Given the description of an element on the screen output the (x, y) to click on. 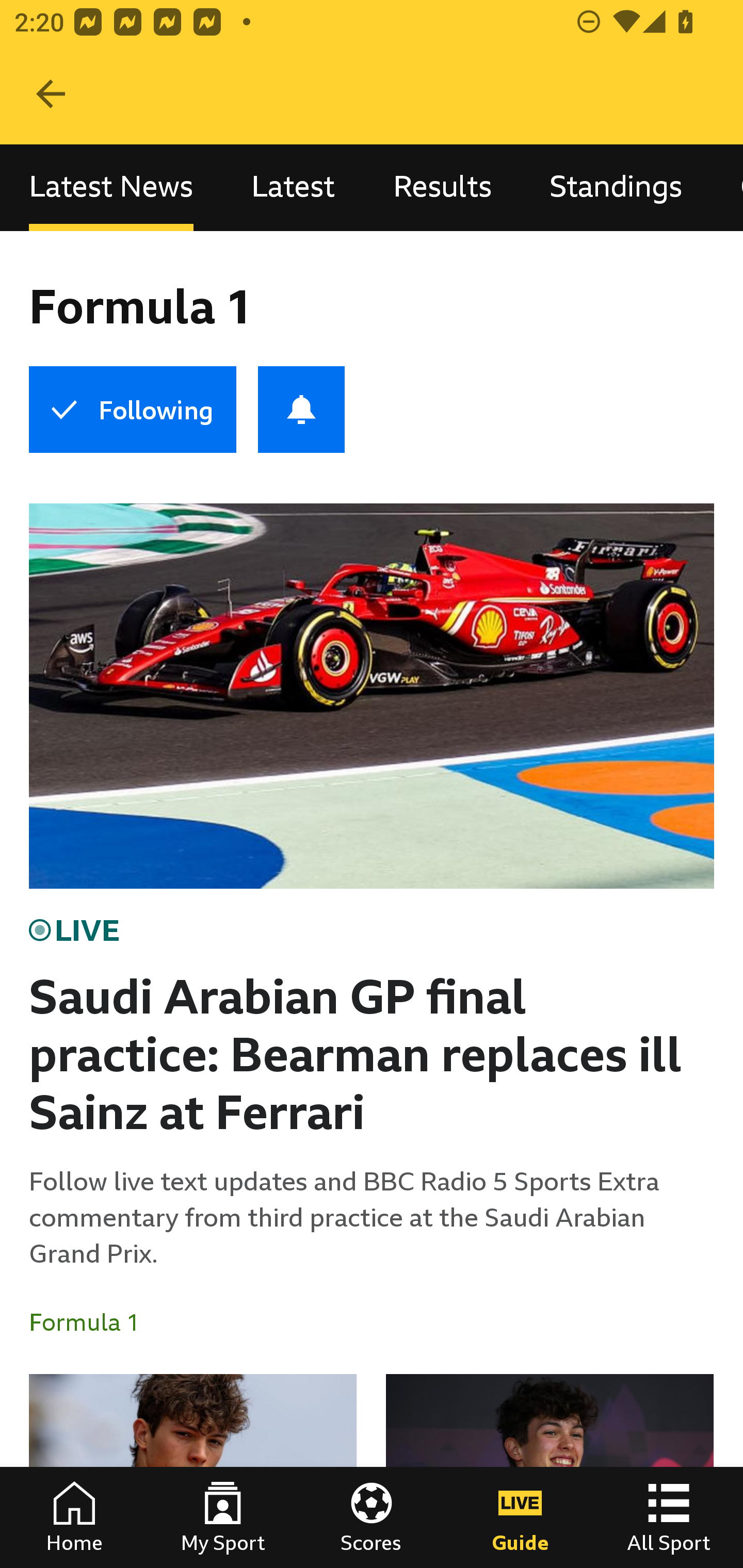
Navigate up (50, 93)
Latest News, selected Latest News (111, 187)
Latest (293, 187)
Results (442, 187)
Standings (615, 187)
Following Formula 1 Following (132, 409)
Push notifications for Formula 1 (300, 409)
Home (74, 1517)
My Sport (222, 1517)
Scores (371, 1517)
All Sport (668, 1517)
